Given the description of an element on the screen output the (x, y) to click on. 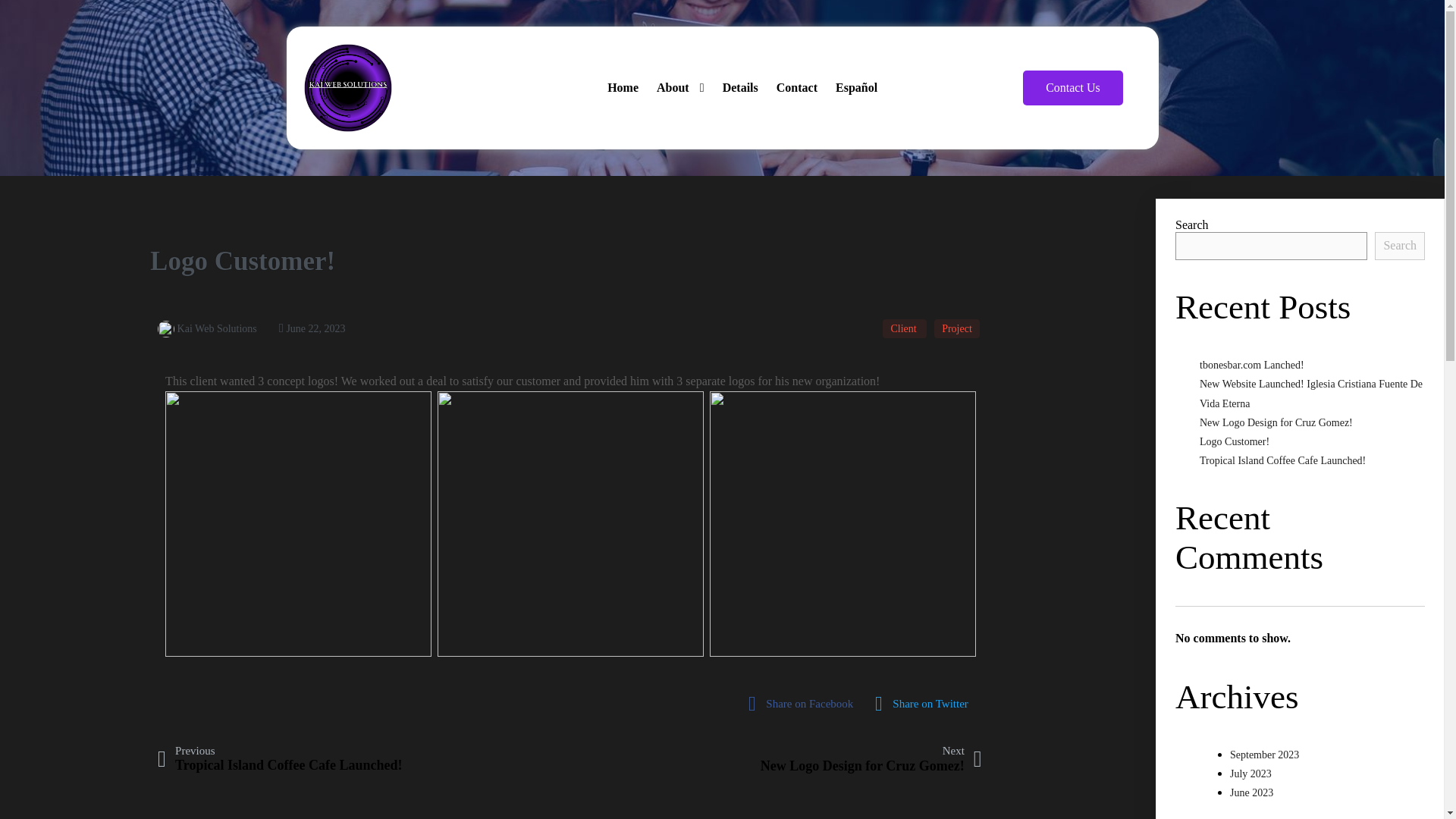
KWS New Logo no background (347, 87)
Logo Customer! (1234, 441)
September 2023 (1264, 754)
Project (956, 328)
Kai Web Solutions (207, 328)
fab fa-facebook-square (804, 704)
Share on Facebook (804, 704)
Home (622, 87)
About (680, 87)
Details (870, 758)
Search (739, 87)
June 2023 (1399, 245)
June 22, 2023 (1251, 792)
Contact (312, 328)
